Given the description of an element on the screen output the (x, y) to click on. 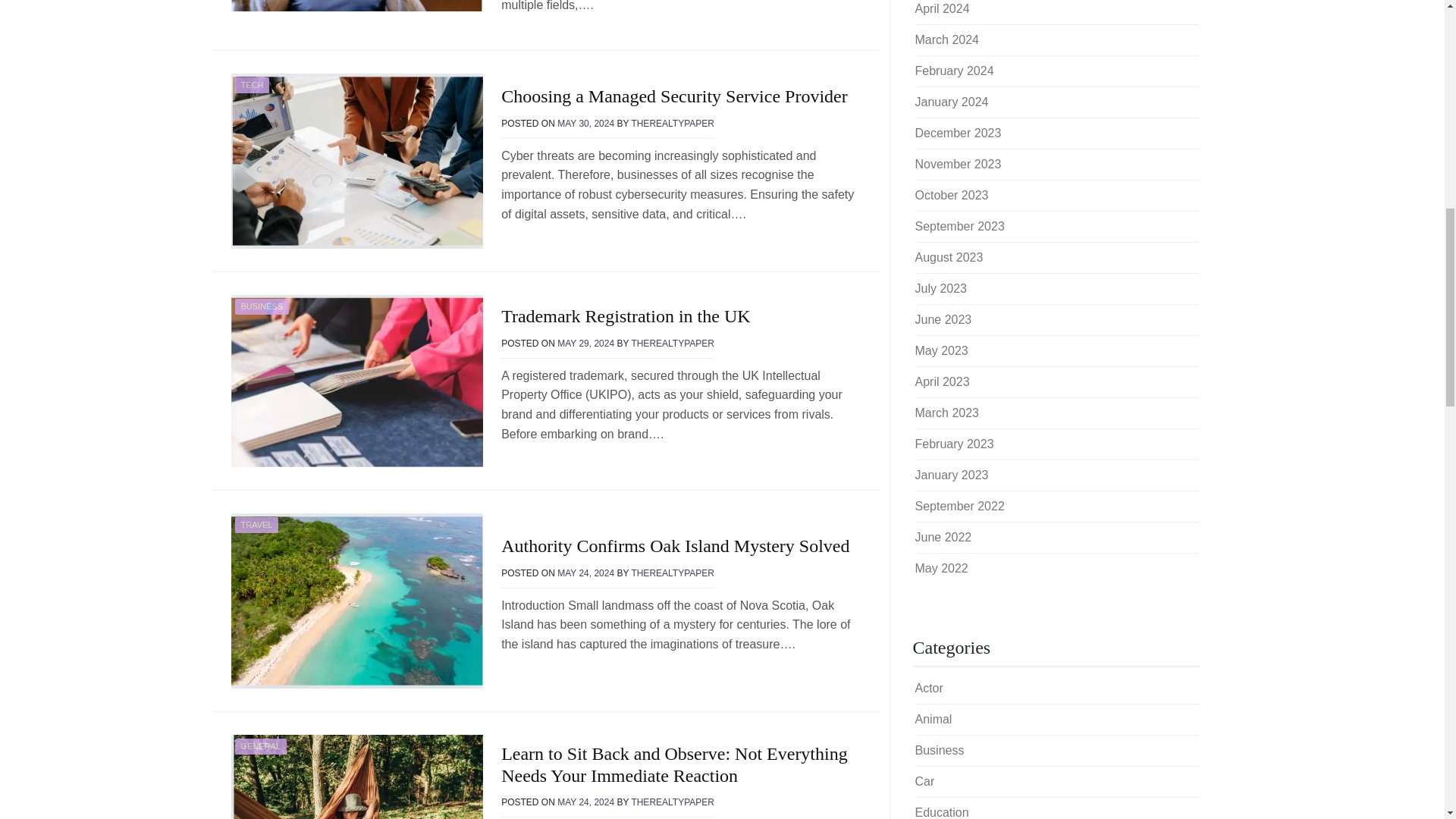
MAY 30, 2024 (585, 122)
Choosing a Managed Security Service Provider (673, 96)
TECH (251, 84)
